Given the description of an element on the screen output the (x, y) to click on. 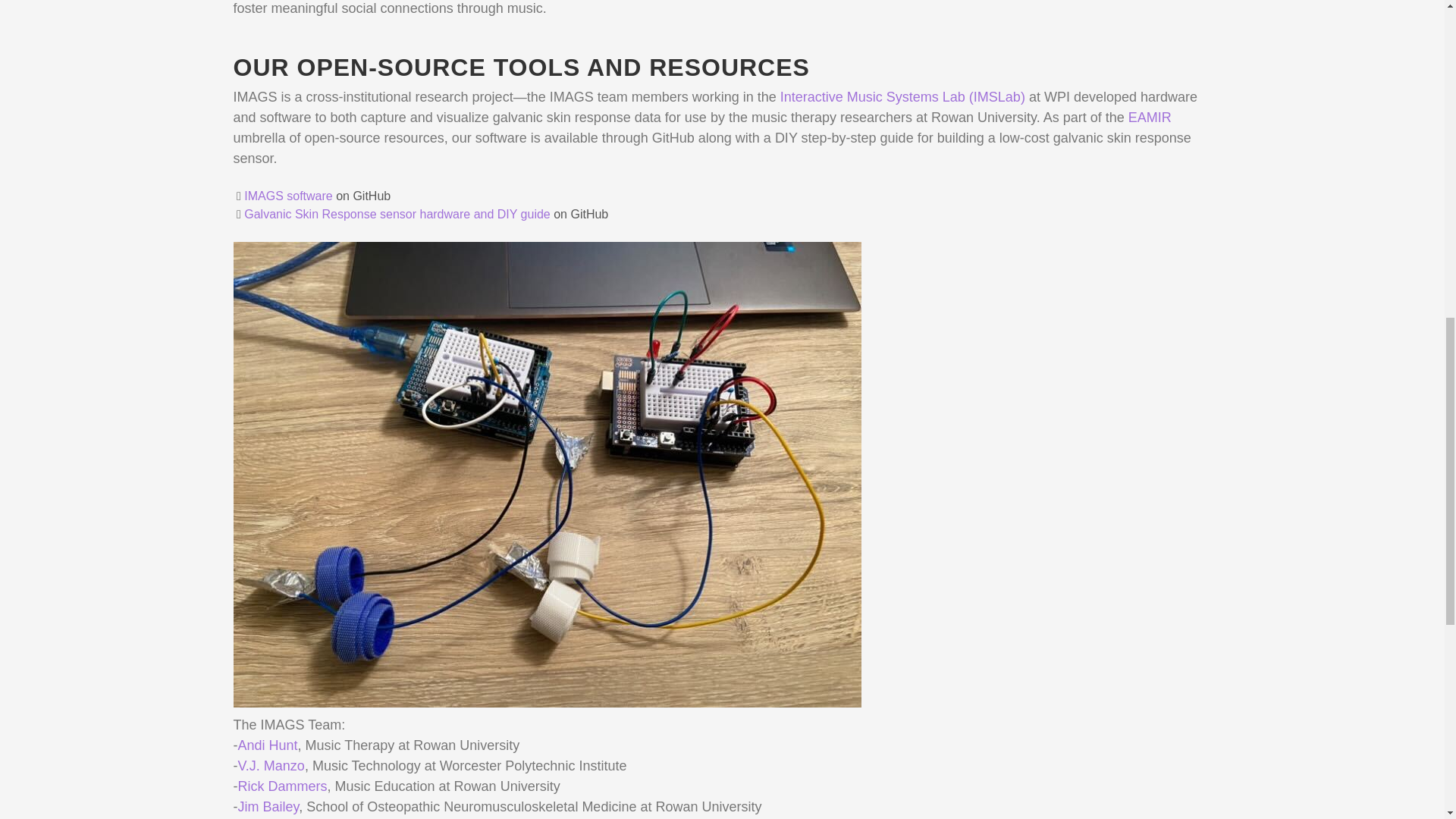
Rick Dammers (282, 785)
EAMIR (1150, 117)
Galvanic Skin Response sensor hardware and DIY guide (397, 214)
V.J. Manzo (271, 765)
Jim Bailey (268, 806)
Andi Hunt (268, 744)
IMAGS software (287, 195)
